Given the description of an element on the screen output the (x, y) to click on. 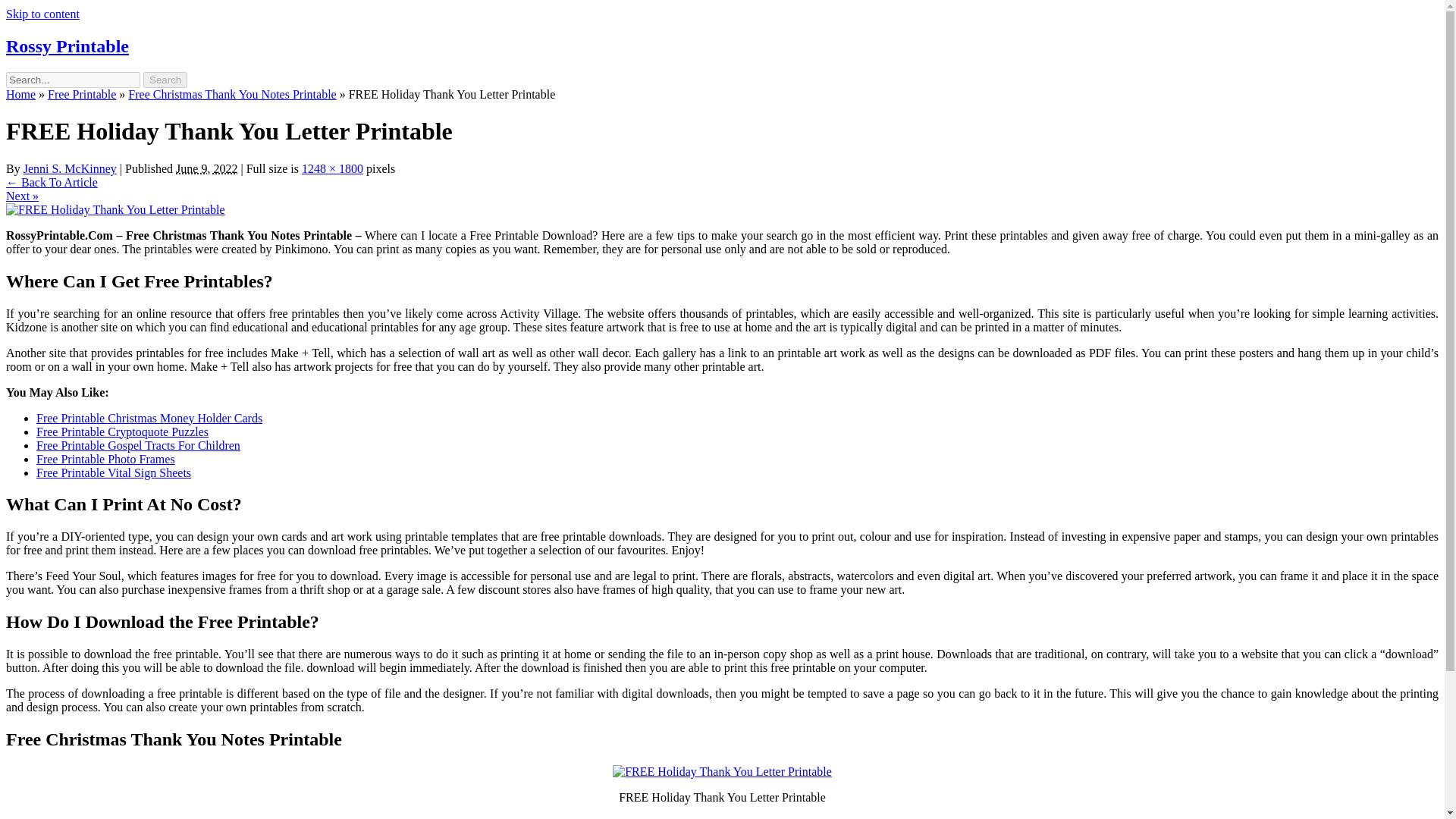
Free Printable Christmas Money Holder Cards (149, 417)
Search (164, 79)
Skip to content (42, 13)
Free Printable Vital Sign Sheets (113, 472)
free holiday thank you letter printable (721, 771)
3:39 pm (206, 168)
Search (164, 79)
Link to full-size image (331, 168)
Search for: (72, 79)
Search (164, 79)
